Given the description of an element on the screen output the (x, y) to click on. 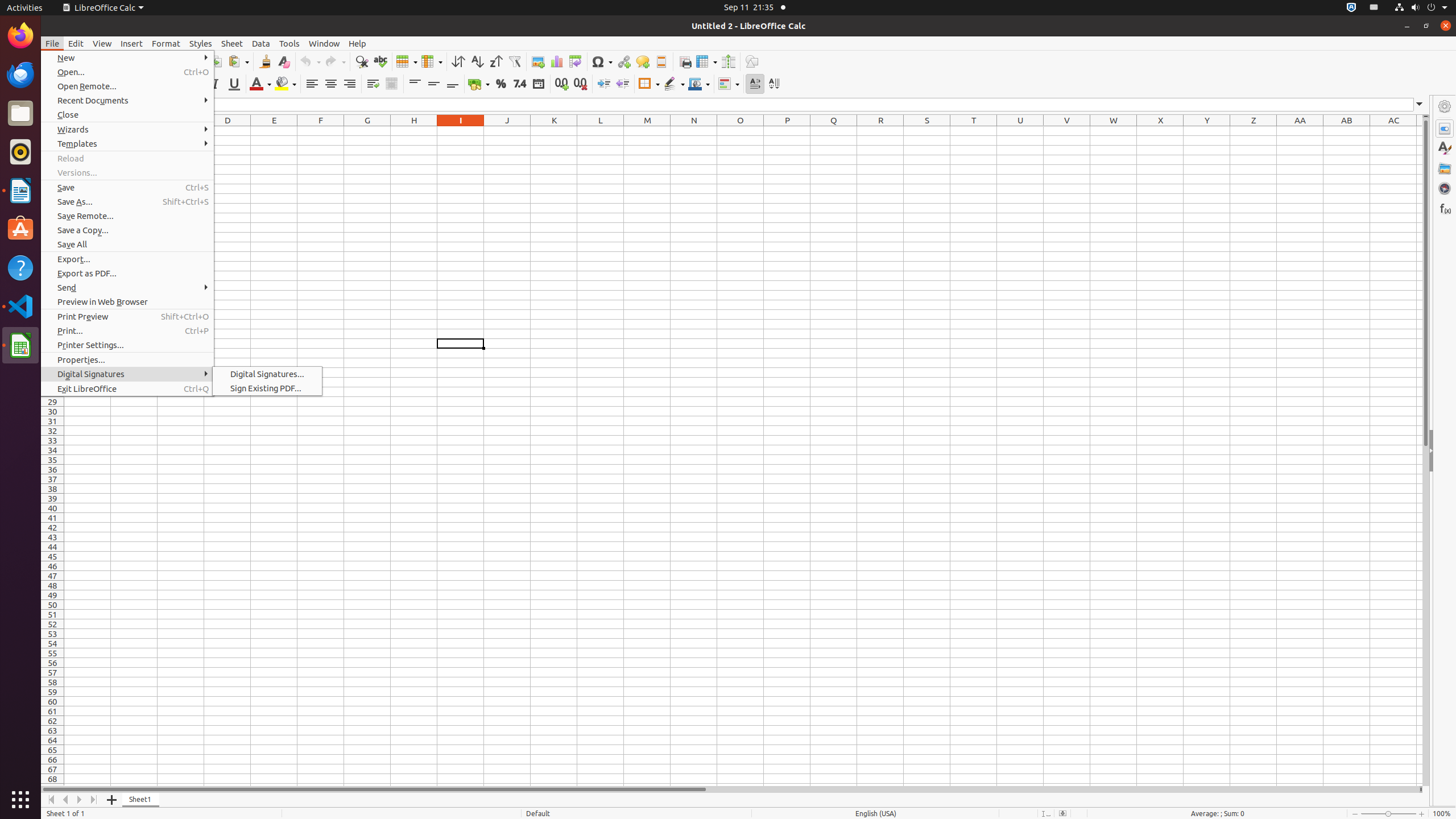
Export as PDF... Element type: menu-item (126, 273)
Print... Element type: menu-item (126, 330)
Recent Documents Element type: menu (126, 100)
K1 Element type: table-cell (553, 130)
Save Element type: menu-item (126, 187)
